Given the description of an element on the screen output the (x, y) to click on. 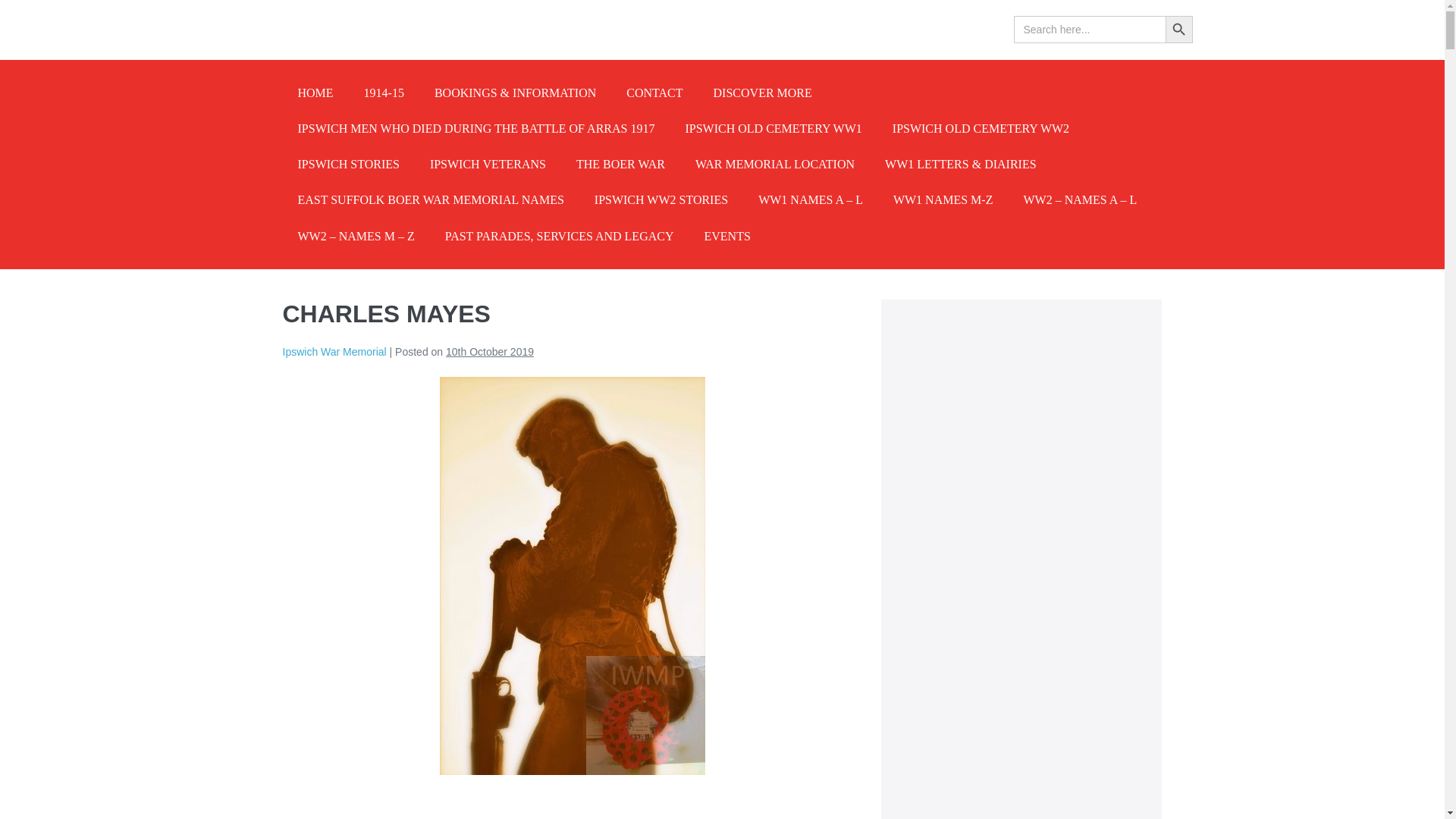
IPSWICH OLD CEMETERY WW1 (772, 128)
HOME (314, 92)
WW1 NAMES M-Z (943, 199)
View all posts by Ipswich War Memorial (333, 351)
Search Button (1178, 29)
DISCOVER MORE (762, 92)
WAR MEMORIAL LOCATION (774, 163)
IPSWICH VETERANS (487, 163)
CONTACT (654, 92)
THE BOER WAR (619, 163)
IPSWICH MEN WHO DIED DURING THE BATTLE OF ARRAS 1917 (475, 128)
IPSWICH STORIES (347, 163)
IPSWICH OLD CEMETERY WW2 (980, 128)
IPSWICH WW2 STORIES (660, 199)
EAST SUFFOLK BOER WAR MEMORIAL NAMES (430, 199)
